Given the description of an element on the screen output the (x, y) to click on. 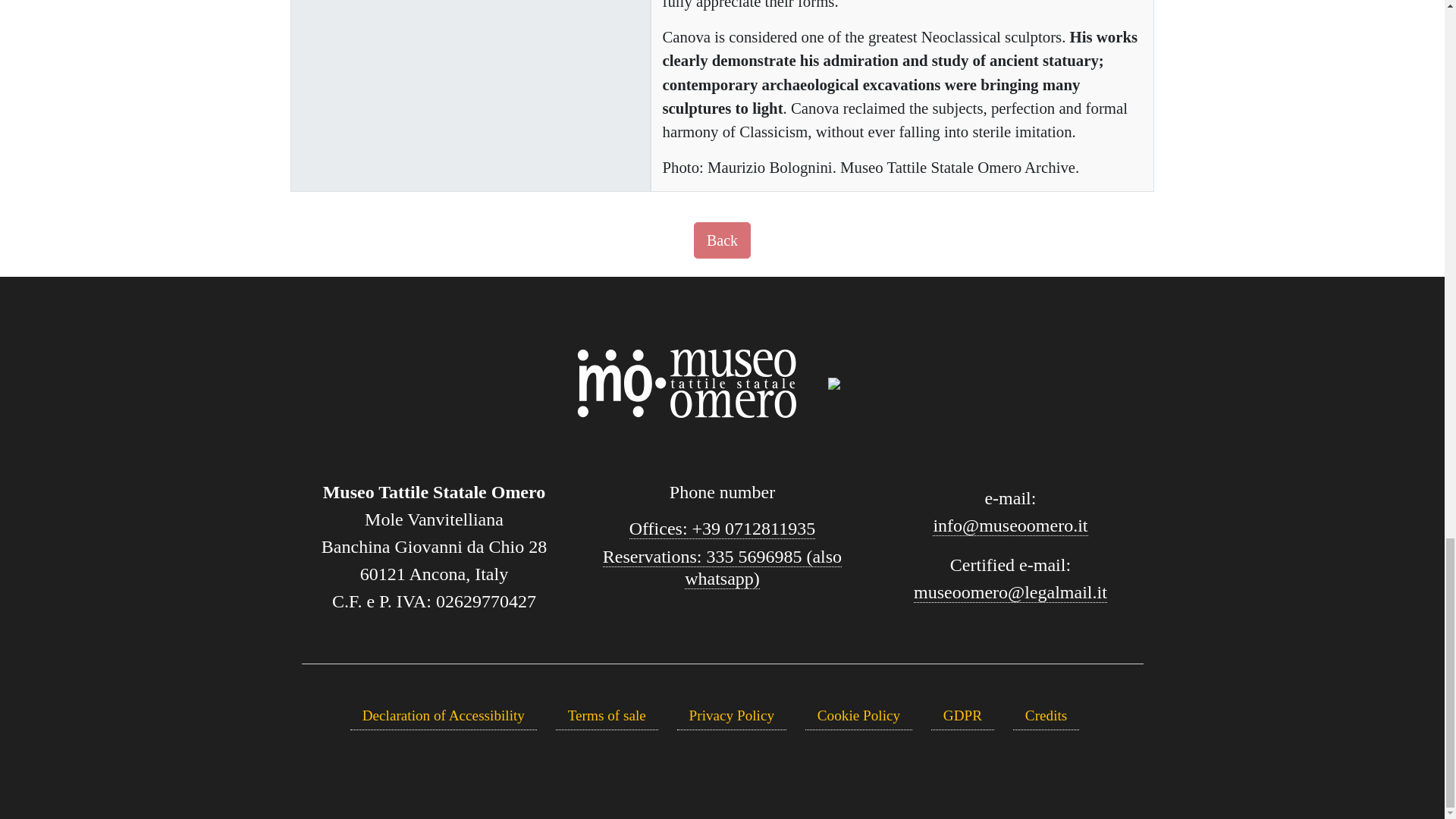
Terms of sale (607, 715)
Privacy Policy (731, 715)
Cookie Policy (858, 715)
GDPR (962, 715)
Back (722, 239)
Declaration of Accessibility (443, 715)
Credits (1045, 715)
